Given the description of an element on the screen output the (x, y) to click on. 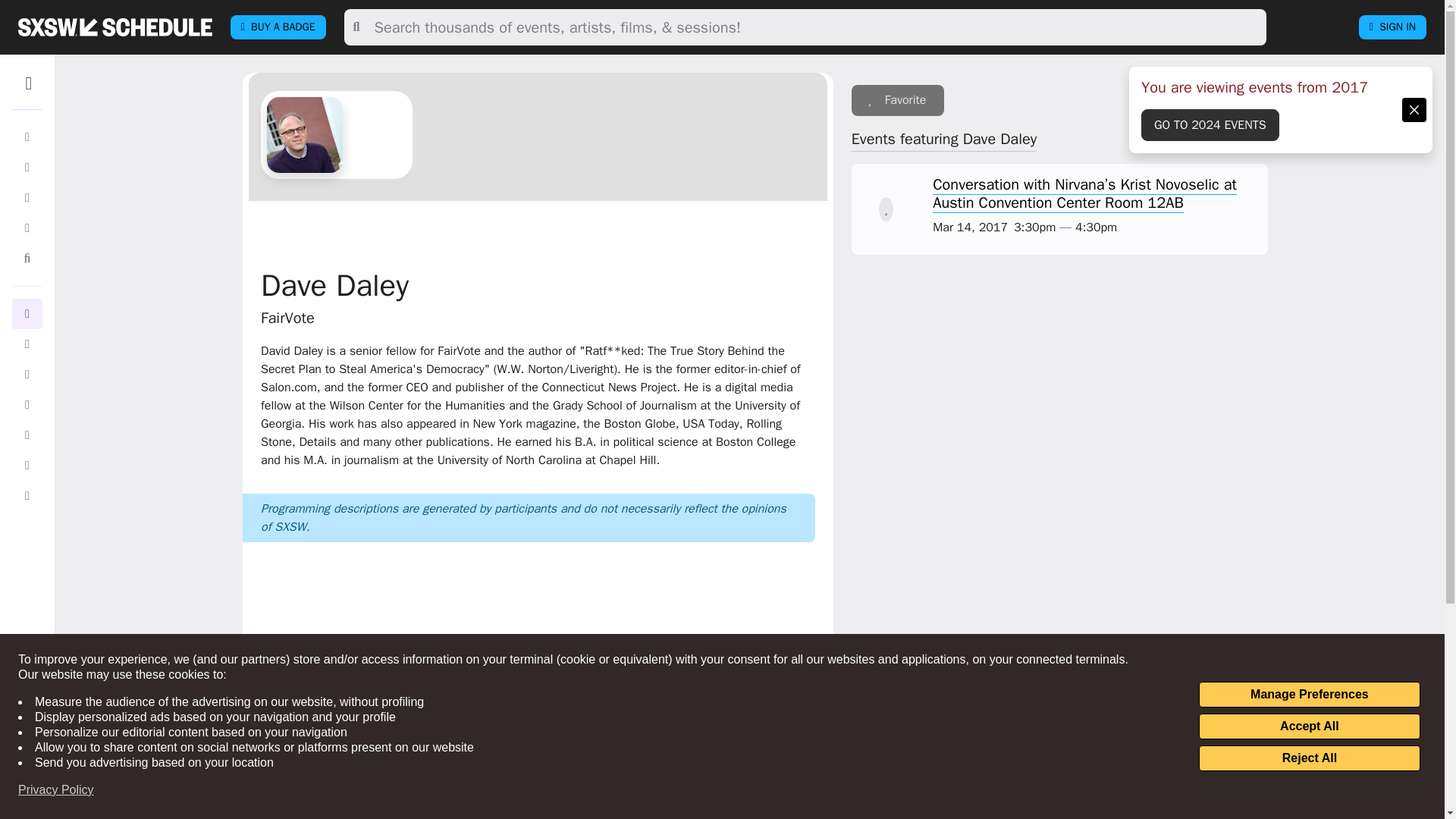
BUY A BADGE (278, 27)
sxsw SCHEDULE (114, 27)
SIGN IN (1392, 27)
GO TO 2024 EVENTS (1210, 124)
Reject All (1309, 758)
Accept All (1309, 726)
Sign In to add to your favorites. (897, 100)
Manage Preferences (1309, 694)
Privacy Policy (55, 789)
